Given the description of an element on the screen output the (x, y) to click on. 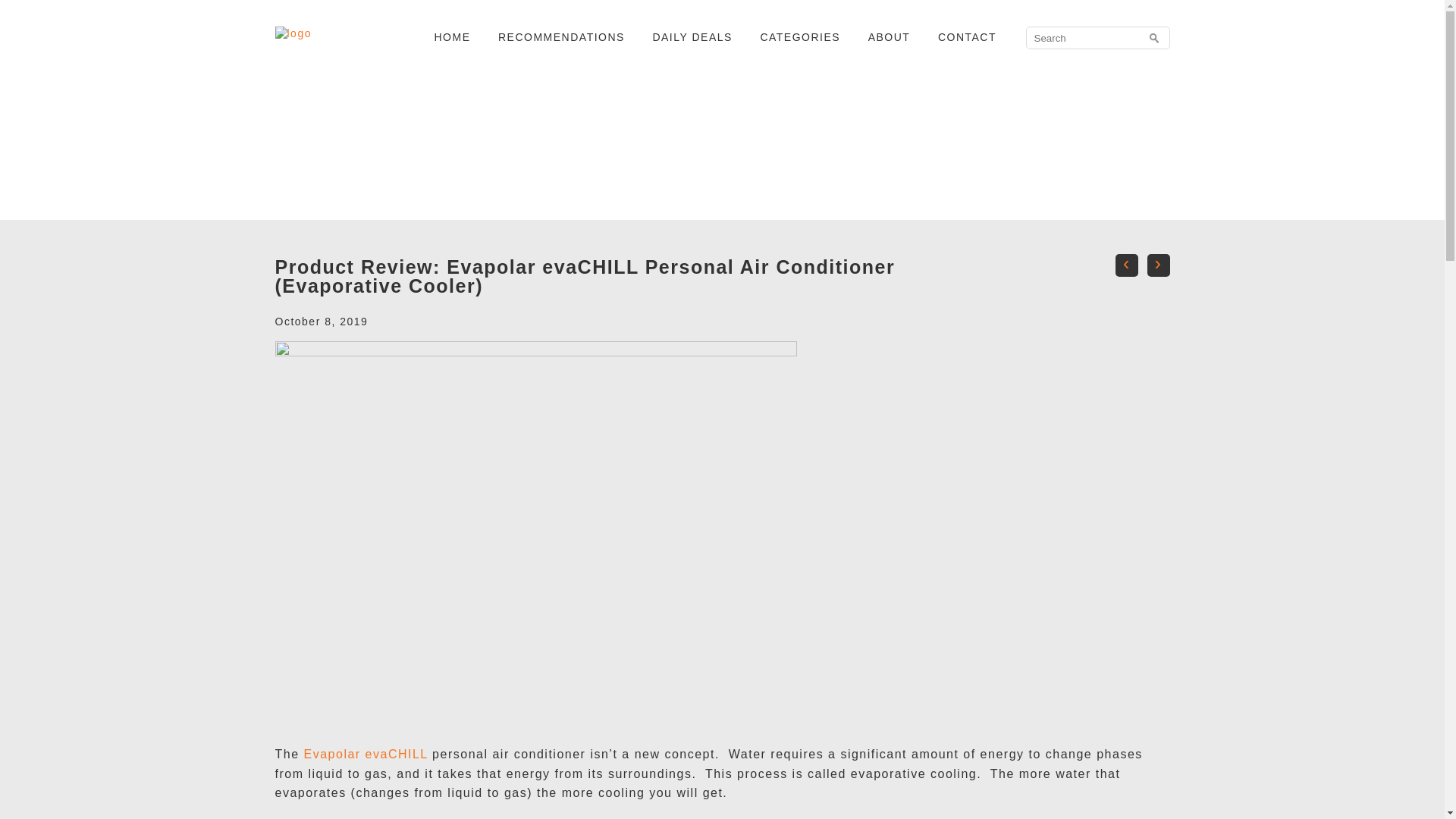
RECOMMENDATIONS (560, 37)
HOME (451, 37)
ABOUT (889, 37)
CATEGORIES (800, 37)
DAILY DEALS (692, 37)
CONTACT (966, 37)
Evapolar evaCHILL (366, 753)
